Given the description of an element on the screen output the (x, y) to click on. 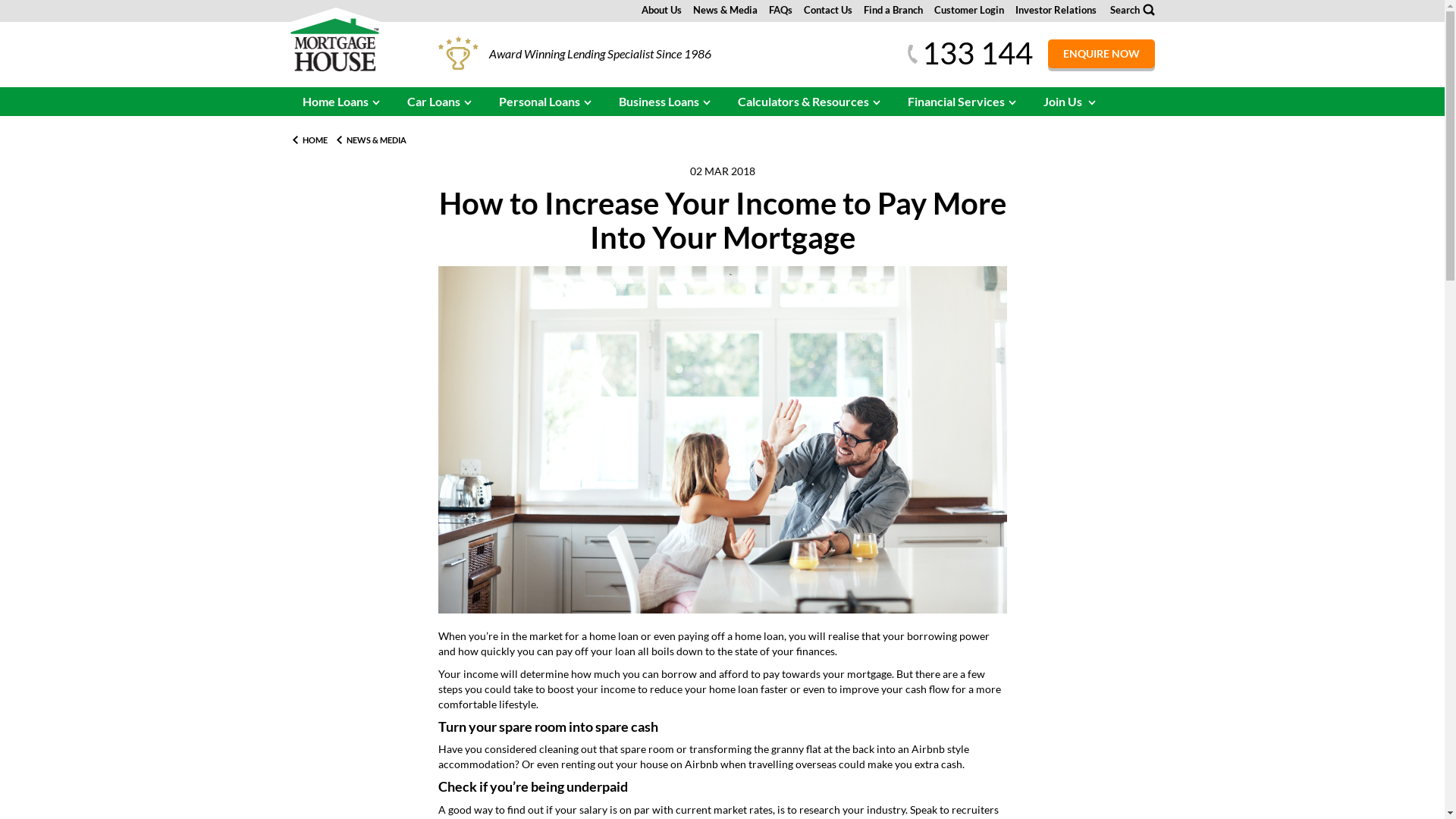
FAQs Element type: text (780, 9)
NEWS & MEDIA Element type: text (369, 139)
Business Loans Element type: text (665, 101)
HOME Element type: text (307, 139)
Car Loans Element type: text (439, 101)
Investor Relations Element type: text (1054, 9)
Join Us Element type: text (1070, 101)
Home Loans Element type: text (340, 101)
Find a Branch Element type: text (892, 9)
Personal Loans Element type: text (545, 101)
Customer Login Element type: text (969, 9)
Contact Us Element type: text (827, 9)
ENQUIRE NOW Element type: text (1101, 53)
News & Media Element type: text (725, 9)
Calculators & Resources Element type: text (809, 101)
Financial Services Element type: text (961, 101)
About Us Element type: text (661, 9)
